Given the description of an element on the screen output the (x, y) to click on. 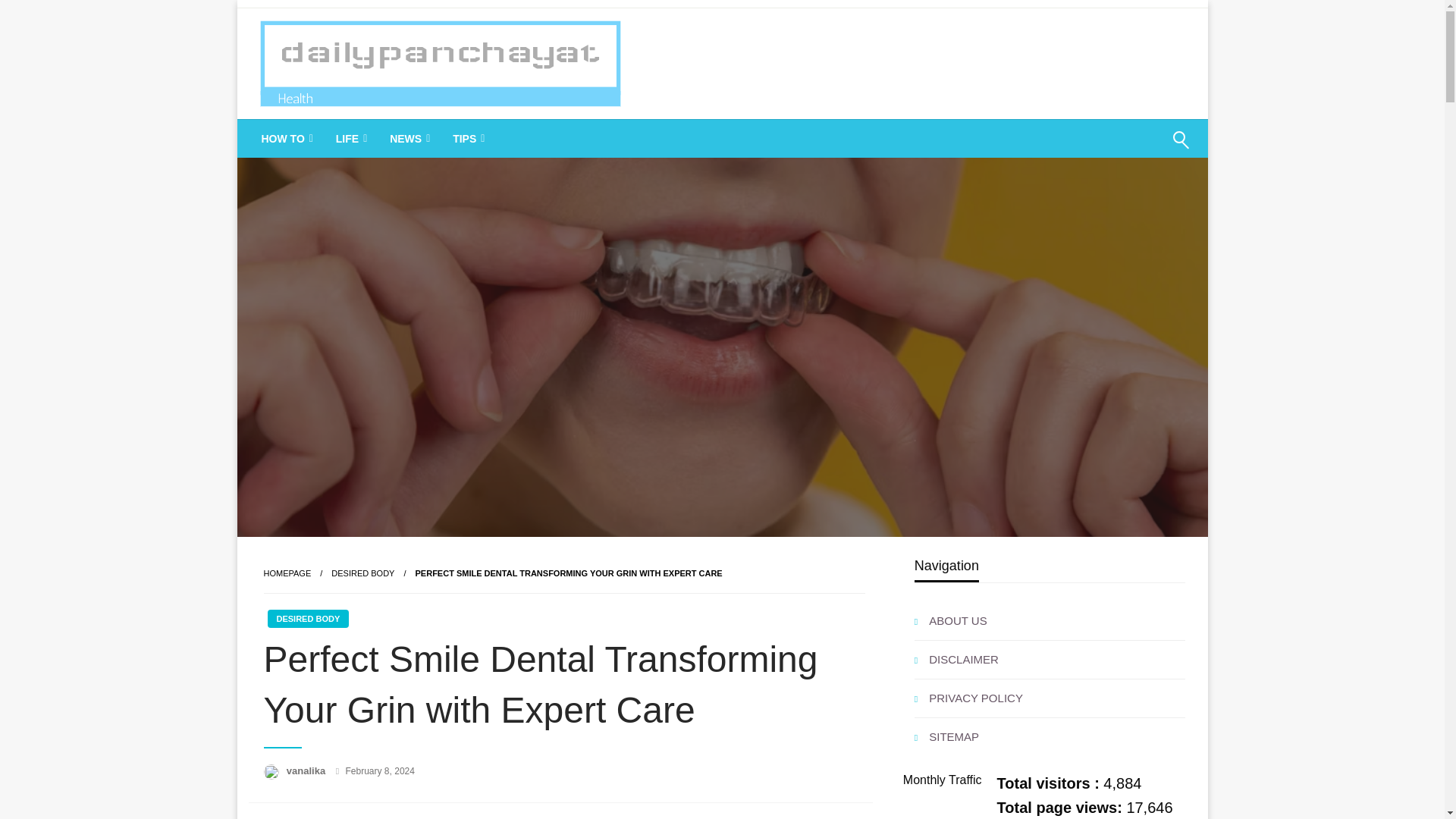
HOW TO (285, 138)
vanalika (307, 770)
desired body (362, 573)
TIPS (467, 138)
LIFE (350, 138)
vanalika (307, 770)
NEWS (408, 138)
February 8, 2024 (380, 770)
Perfect Smile Dental Transforming Your Grin with Expert Care (568, 573)
DESIRED BODY (307, 618)
Search (1144, 149)
HOMEPAGE (287, 573)
DESIRED BODY (362, 573)
